Given the description of an element on the screen output the (x, y) to click on. 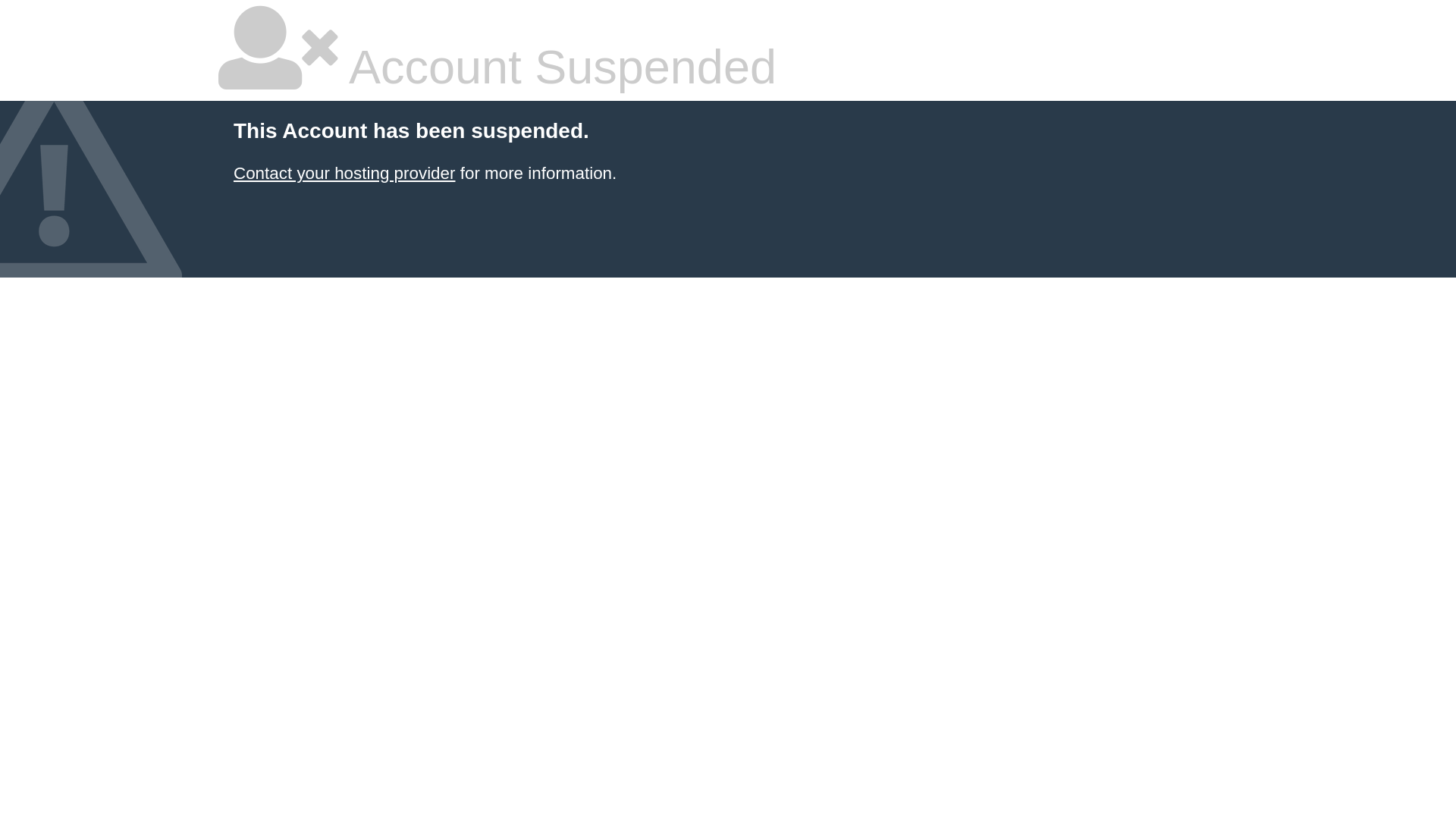
Contact your hosting provider Element type: text (344, 172)
